Given the description of an element on the screen output the (x, y) to click on. 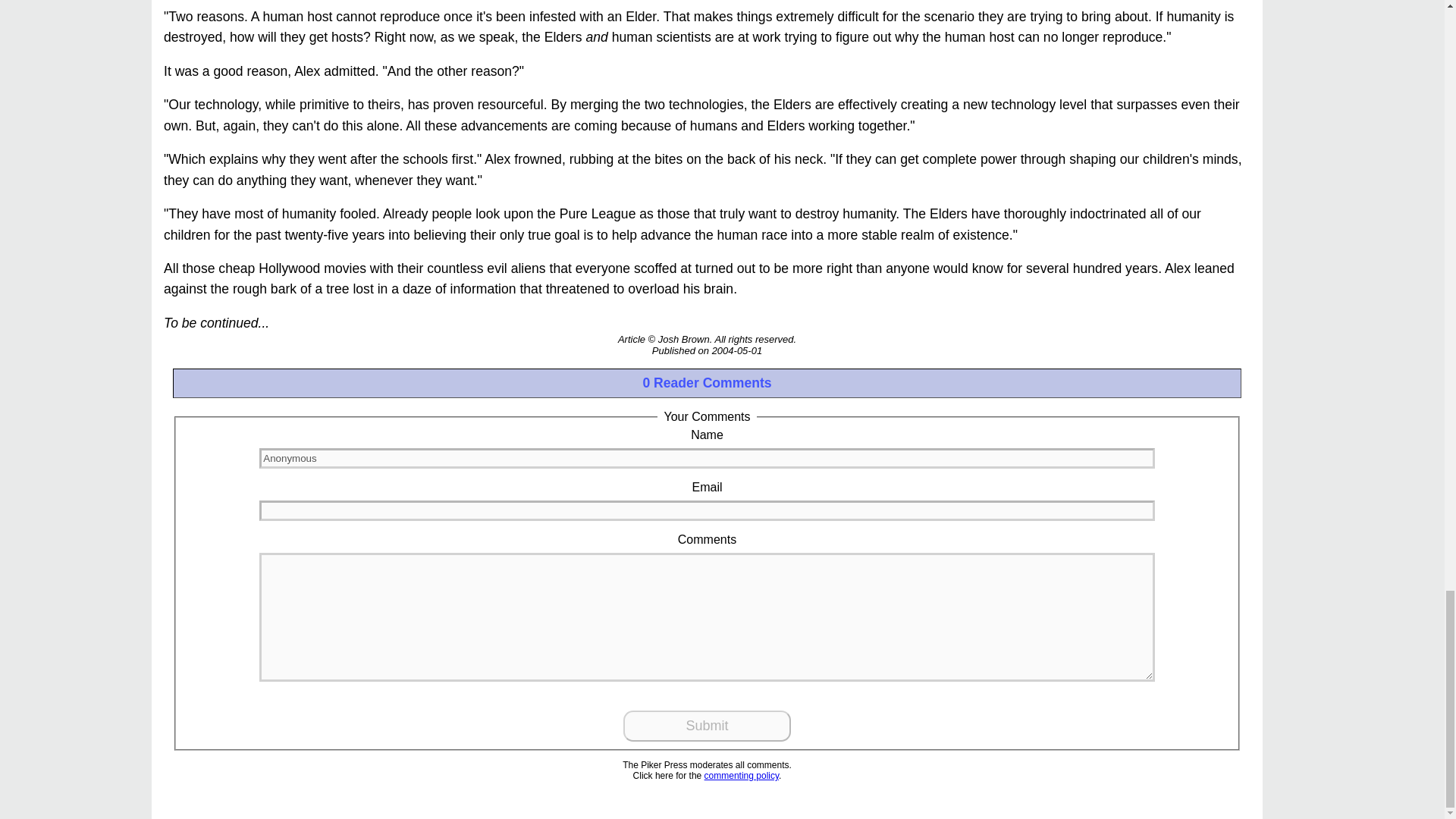
Submit (706, 726)
Anonymous (706, 457)
Submit (706, 726)
commenting policy (741, 775)
